Given the description of an element on the screen output the (x, y) to click on. 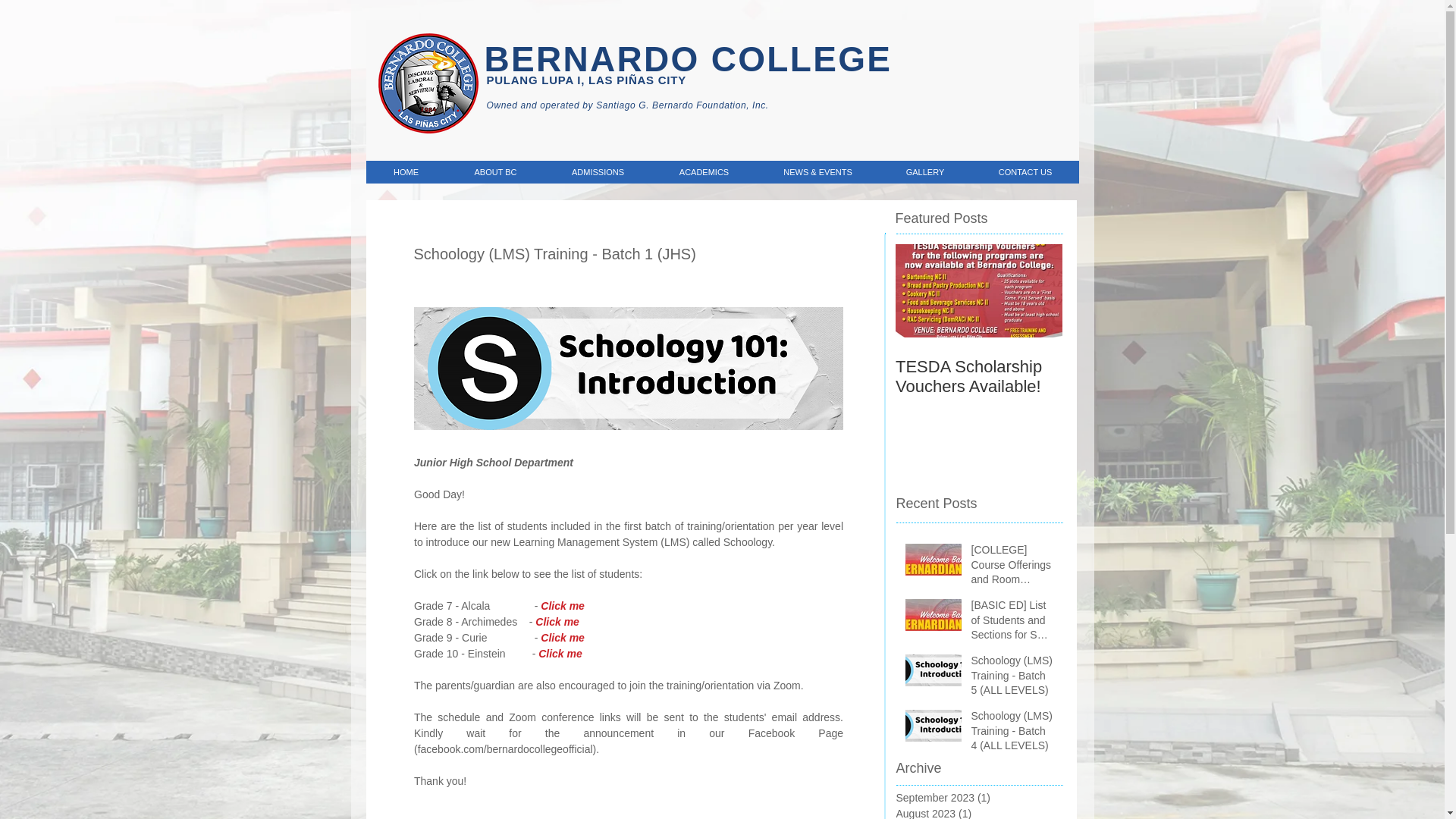
HOME (405, 171)
ADMISSIONS (597, 171)
Click me  (563, 605)
ABOUT BC (494, 171)
TESDA Scholarship Vouchers Available! (978, 376)
Click me (557, 621)
GALLERY (924, 171)
Click me (560, 653)
Click me (562, 637)
CONTACT US (1024, 171)
ACADEMICS (702, 171)
